Given the description of an element on the screen output the (x, y) to click on. 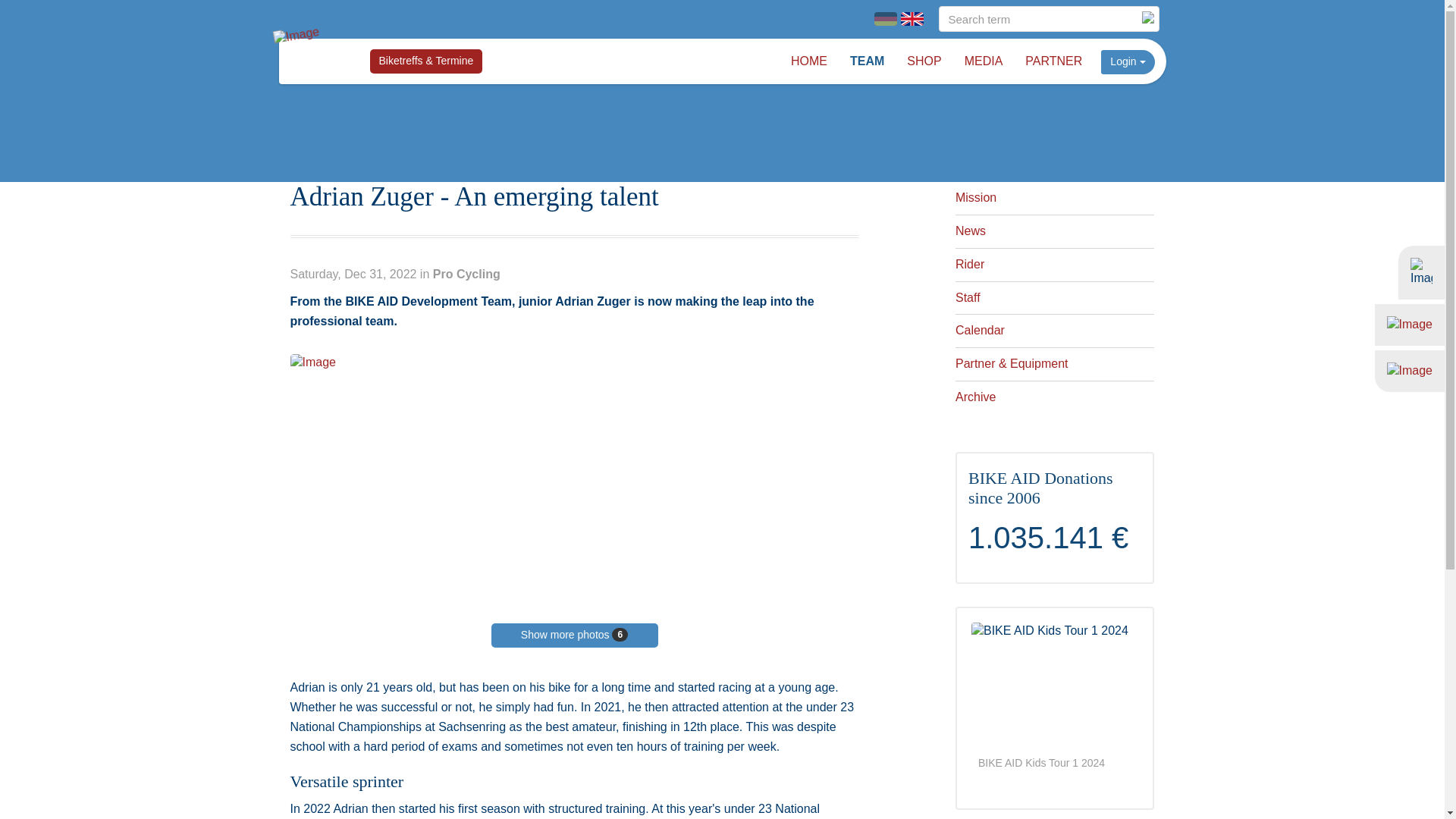
PARTNER (1053, 61)
Login (1127, 61)
MEDIA (983, 61)
SHOP (923, 61)
BIKE AID Kids Tour 1 2024 (1054, 684)
HOME (808, 61)
Show more photos 6 (575, 635)
TEAM (866, 61)
